Given the description of an element on the screen output the (x, y) to click on. 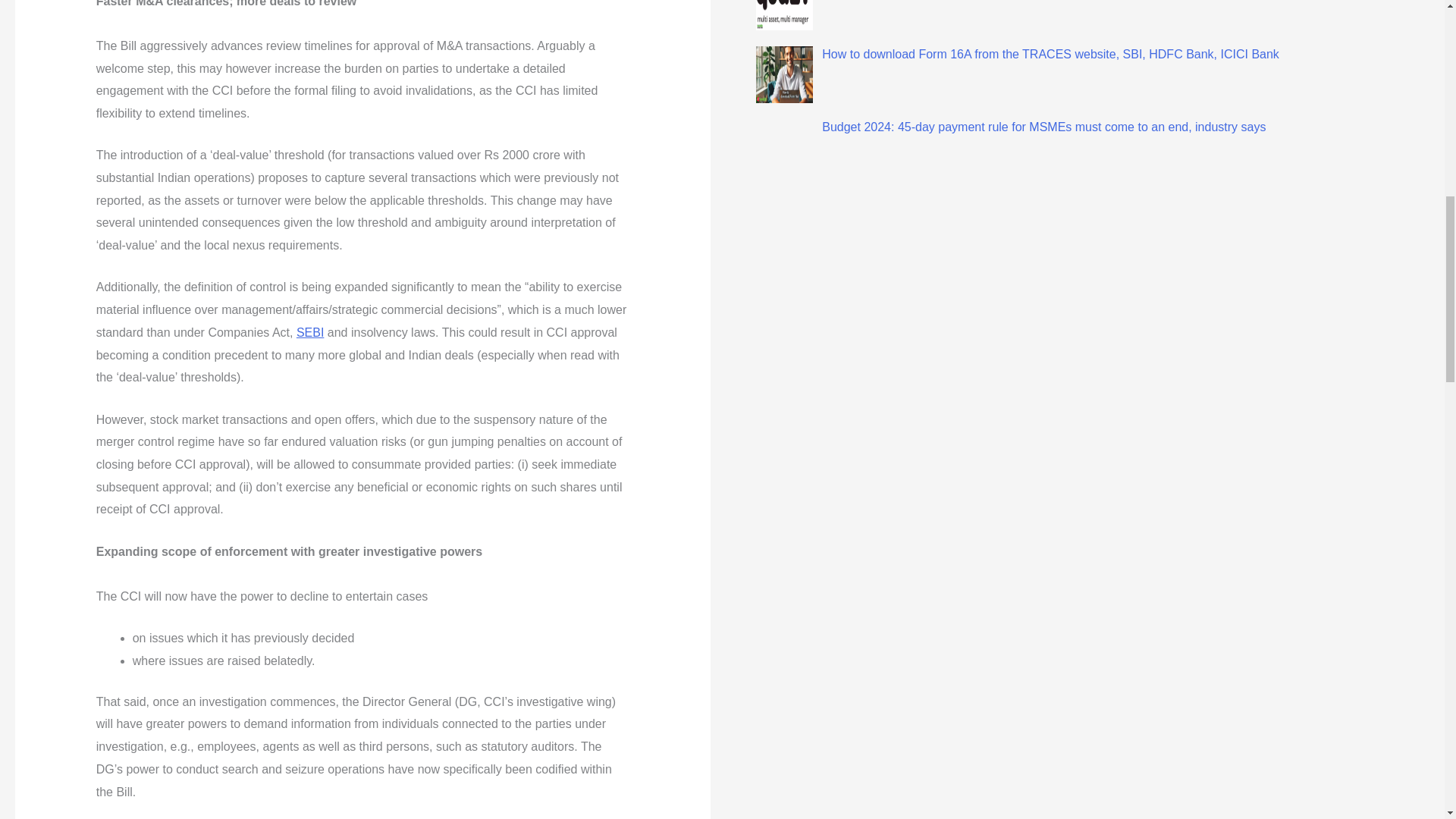
SEBI (310, 332)
